Given the description of an element on the screen output the (x, y) to click on. 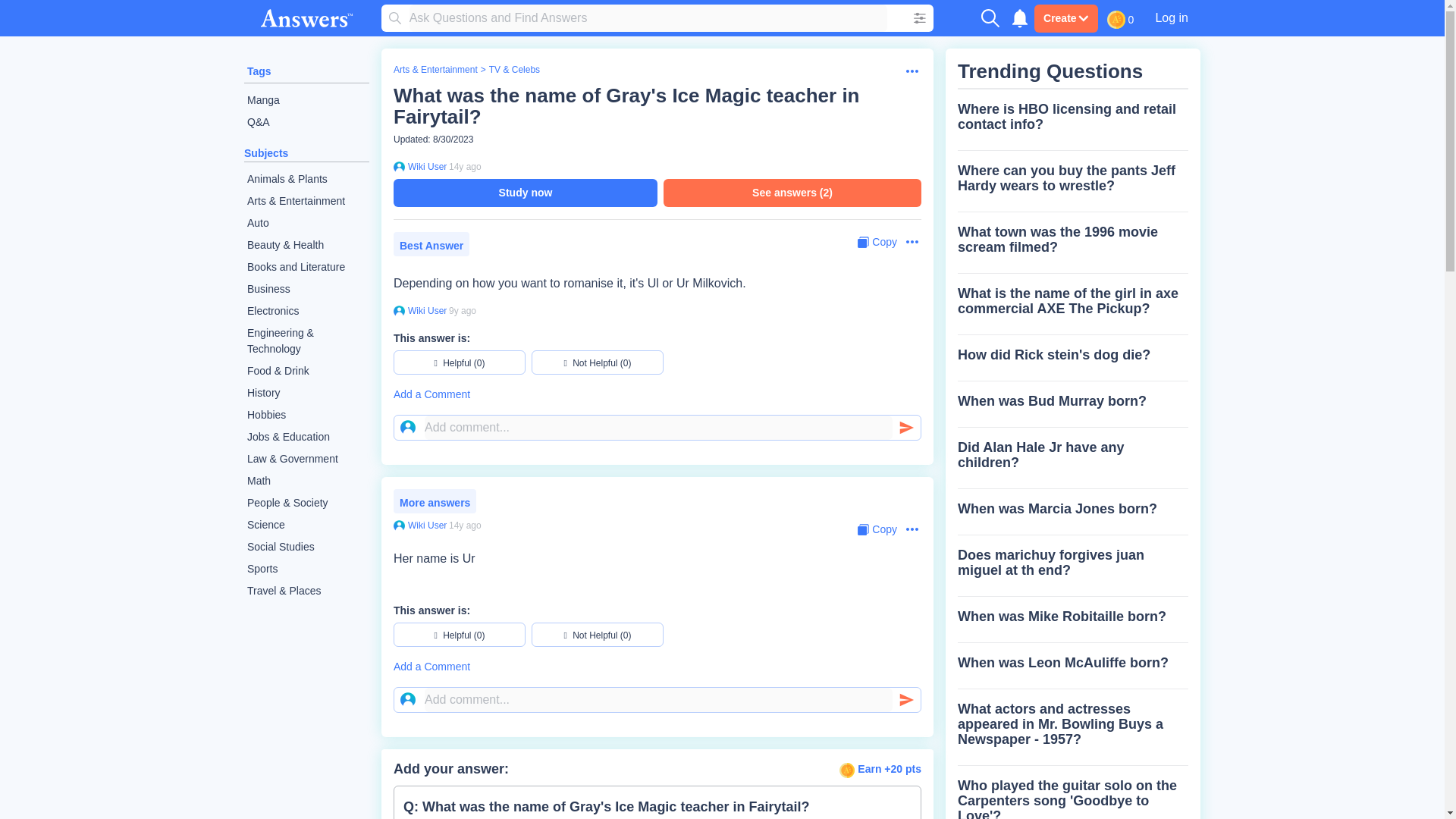
Science (306, 525)
History (306, 393)
Wiki User (425, 166)
Auto (306, 223)
Math (306, 481)
Electronics (306, 311)
Log in (1170, 17)
Tags (258, 70)
Create (1065, 18)
2009-12-13 09:32:12 (464, 525)
